Given the description of an element on the screen output the (x, y) to click on. 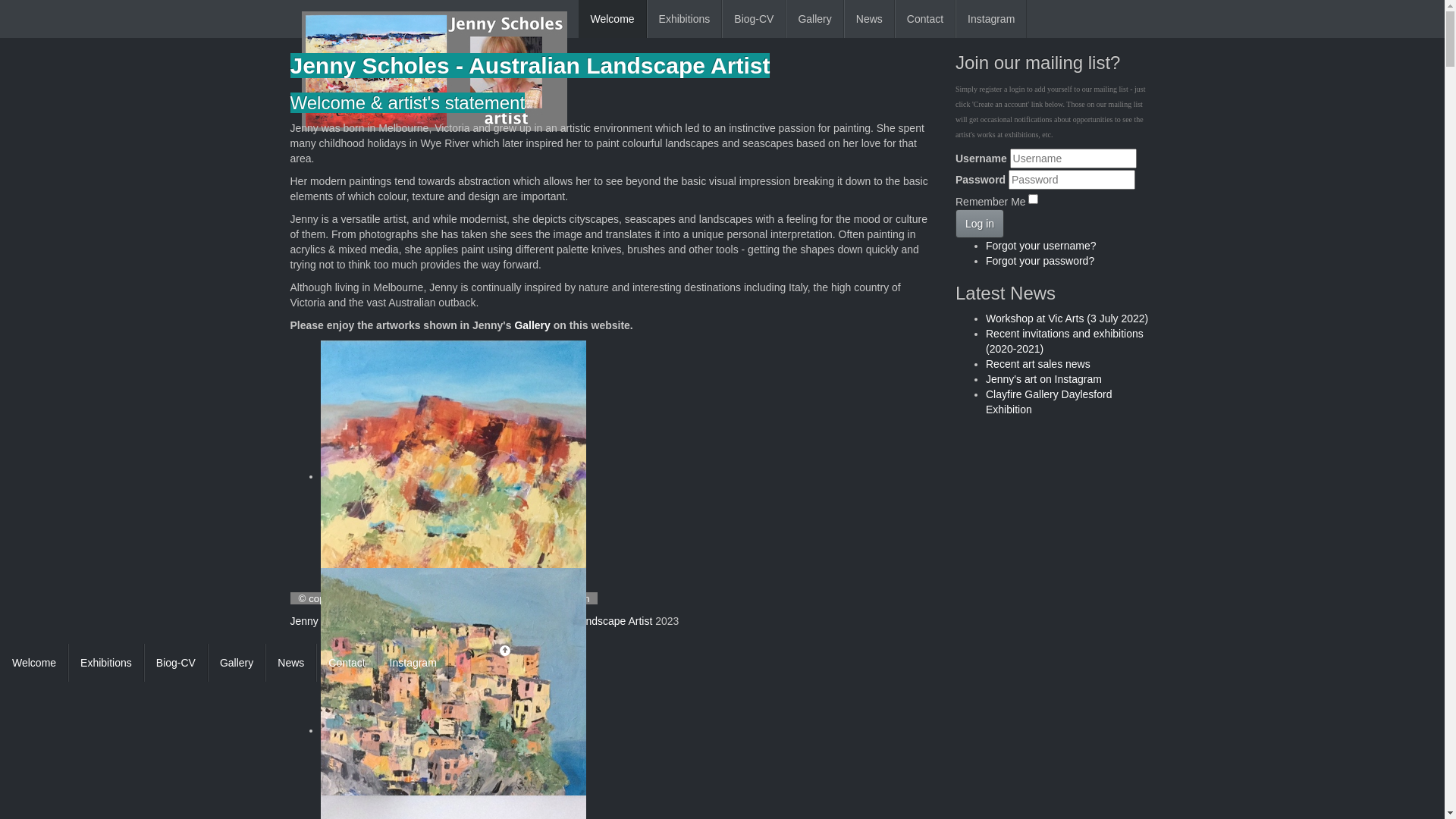
Gallery Element type: text (531, 325)
News Element type: text (869, 18)
Welcome Element type: text (611, 18)
Go To Top Element type: text (479, 651)
News Element type: text (290, 662)
Gallery Element type: text (236, 662)
Forgot your username? Element type: text (1040, 245)
Biog-CV Element type: text (175, 662)
Welcome Element type: text (34, 662)
Instagram Element type: text (412, 662)
Paper Action Element type: text (560, 598)
Recent art sales news Element type: text (1037, 363)
Contact Element type: text (924, 18)
Workshop at Vic Arts (3 July 2022) Element type: text (1066, 318)
Biog-CV Element type: text (753, 18)
Clayfire Gallery Daylesford Exhibition Element type: text (1048, 401)
Contact Element type: text (346, 662)
Recent invitations and exhibitions (2020-2021) Element type: text (1064, 340)
Log in Element type: text (979, 223)
Exhibitions Element type: text (684, 18)
Forgot your password? Element type: text (1039, 260)
Jenny's art on Instagram Element type: text (1043, 379)
Gallery Element type: text (814, 18)
Instagram Element type: text (990, 18)
Exhibitions Element type: text (106, 662)
